Given the description of an element on the screen output the (x, y) to click on. 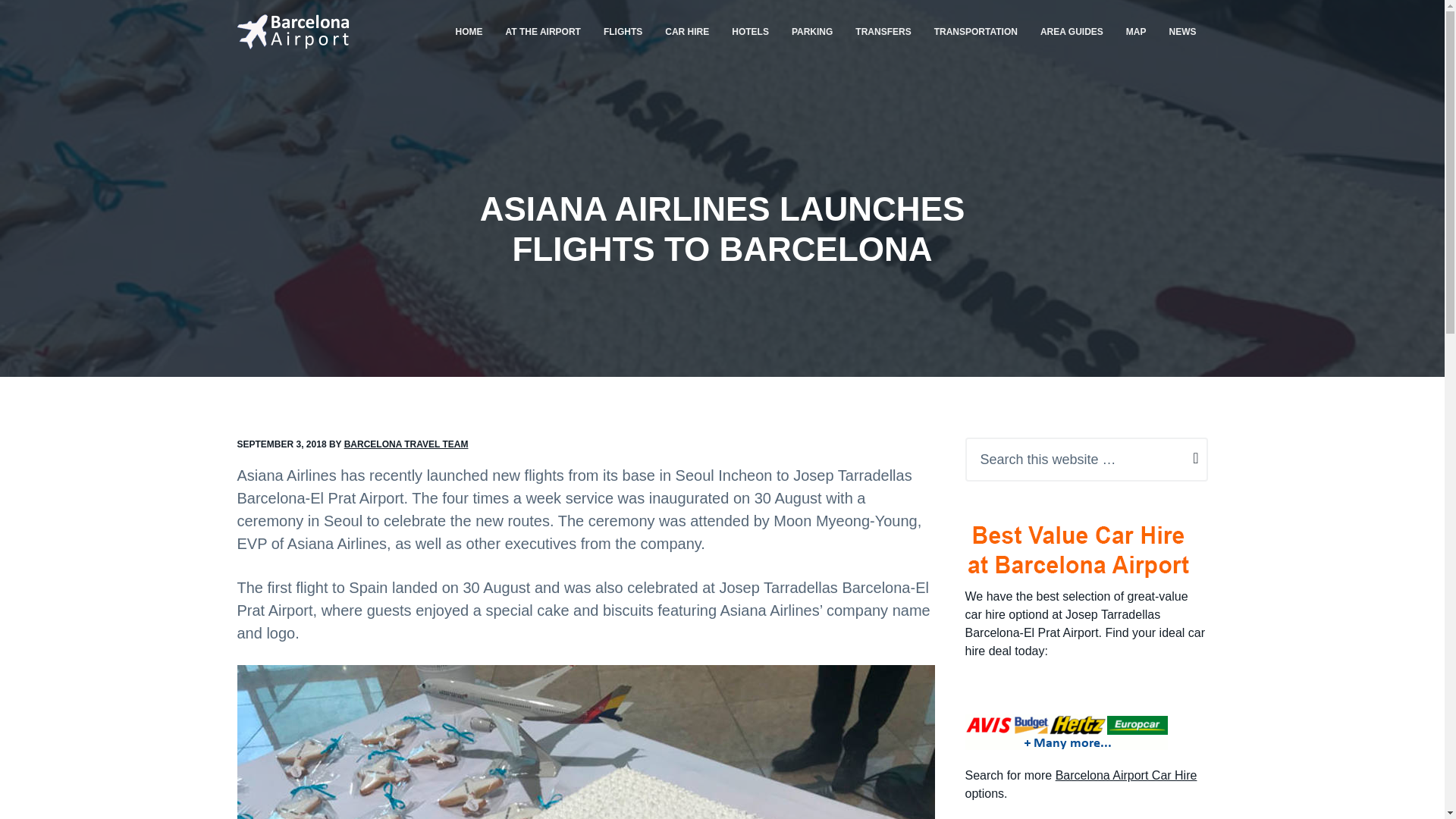
Search (44, 18)
CAR HIRE (686, 31)
PARKING (812, 31)
HOTELS (750, 31)
AT THE AIRPORT (543, 31)
TRANSPORTATION (976, 31)
TRANSFERS (882, 31)
BARCELONA TRAVEL TEAM (405, 443)
FLIGHTS (622, 31)
